Given the description of an element on the screen output the (x, y) to click on. 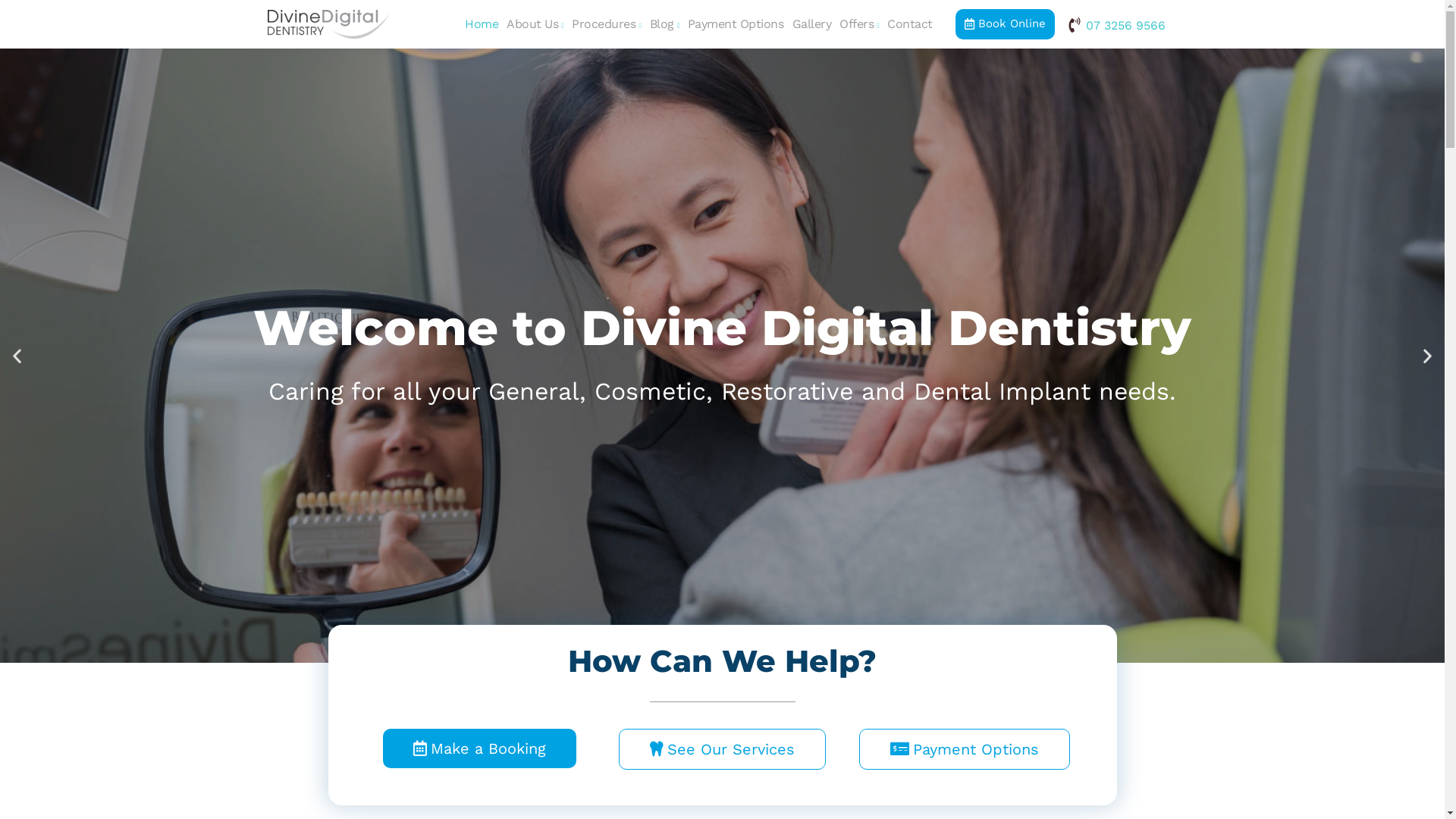
Procedures Element type: text (606, 24)
Book Online Element type: text (1004, 24)
About Us Element type: text (534, 24)
Offers Element type: text (859, 24)
Home Element type: text (481, 24)
07 3256 9566 Element type: text (1115, 24)
See Our Services Element type: text (721, 748)
Payment Options Element type: text (964, 748)
Payment Options Element type: text (735, 24)
Blog Element type: text (664, 24)
Contact Element type: text (910, 24)
Make a Booking Element type: text (479, 748)
Gallery Element type: text (811, 24)
